Given the description of an element on the screen output the (x, y) to click on. 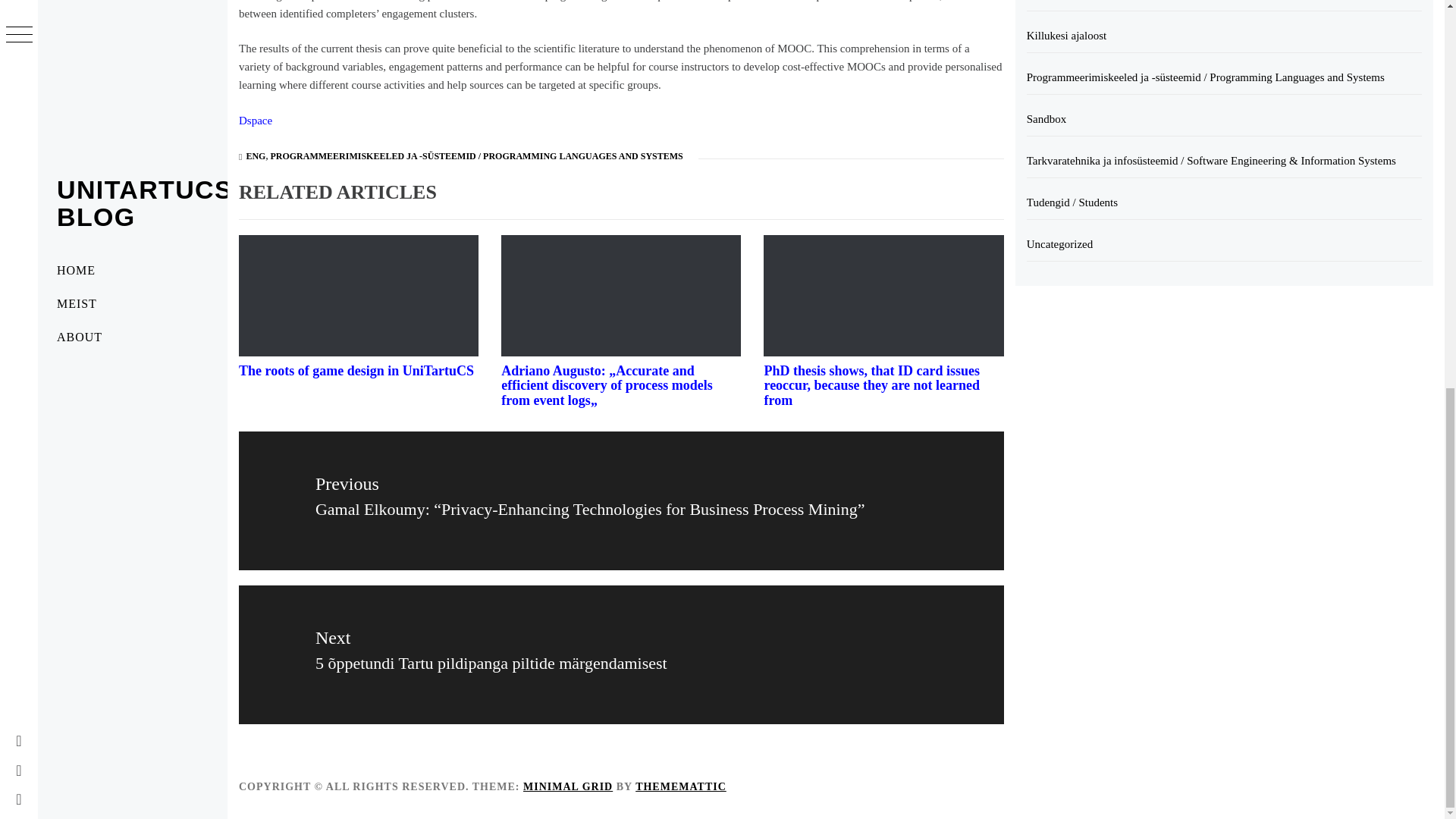
Dspace (255, 120)
Dspace (255, 120)
Killukesi ajaloost (1224, 35)
ENG (255, 155)
The roots of game design in UniTartuCS (356, 370)
